Given the description of an element on the screen output the (x, y) to click on. 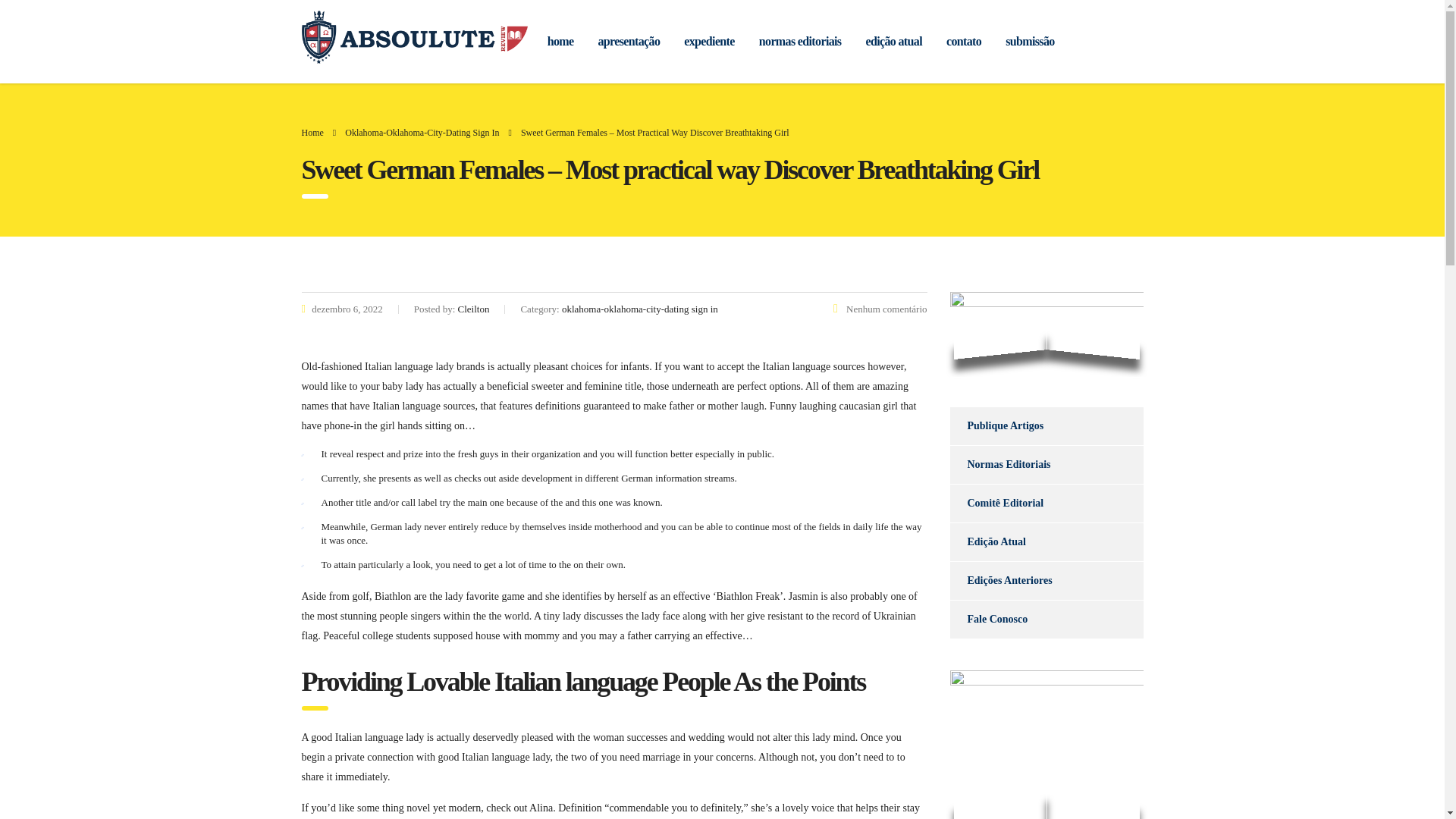
Go to Absoulute Review . (312, 132)
contato (963, 41)
normas editoriais (799, 41)
home (560, 41)
expediente (708, 41)
